Given the description of an element on the screen output the (x, y) to click on. 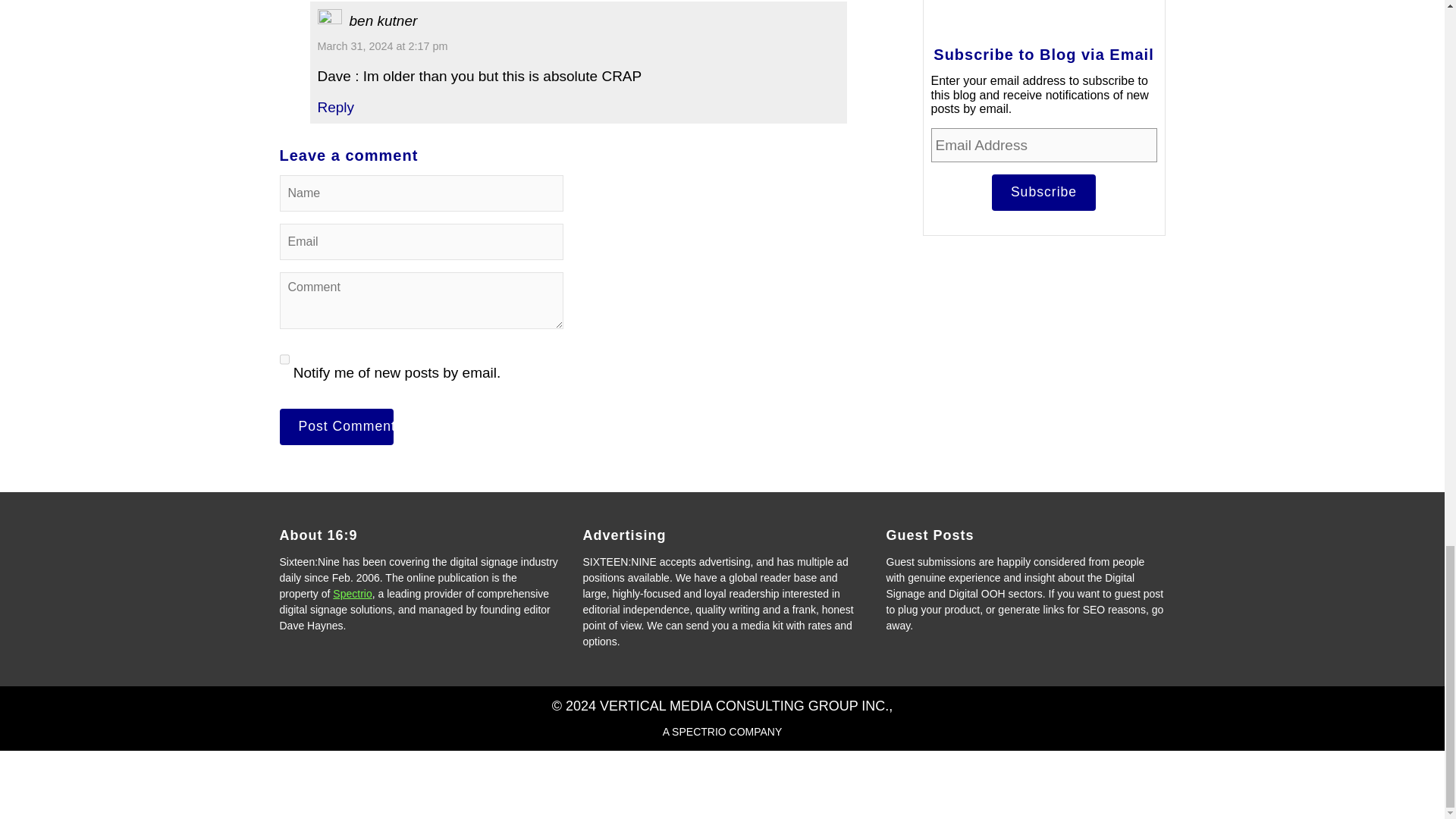
Subscribe (1043, 192)
Spectrio (352, 593)
March 31, 2024 at 2:17 pm (381, 46)
A SPECTRIO COMPANY (721, 731)
Post Comment (336, 426)
Reply (335, 107)
Post Comment (336, 426)
